Given the description of an element on the screen output the (x, y) to click on. 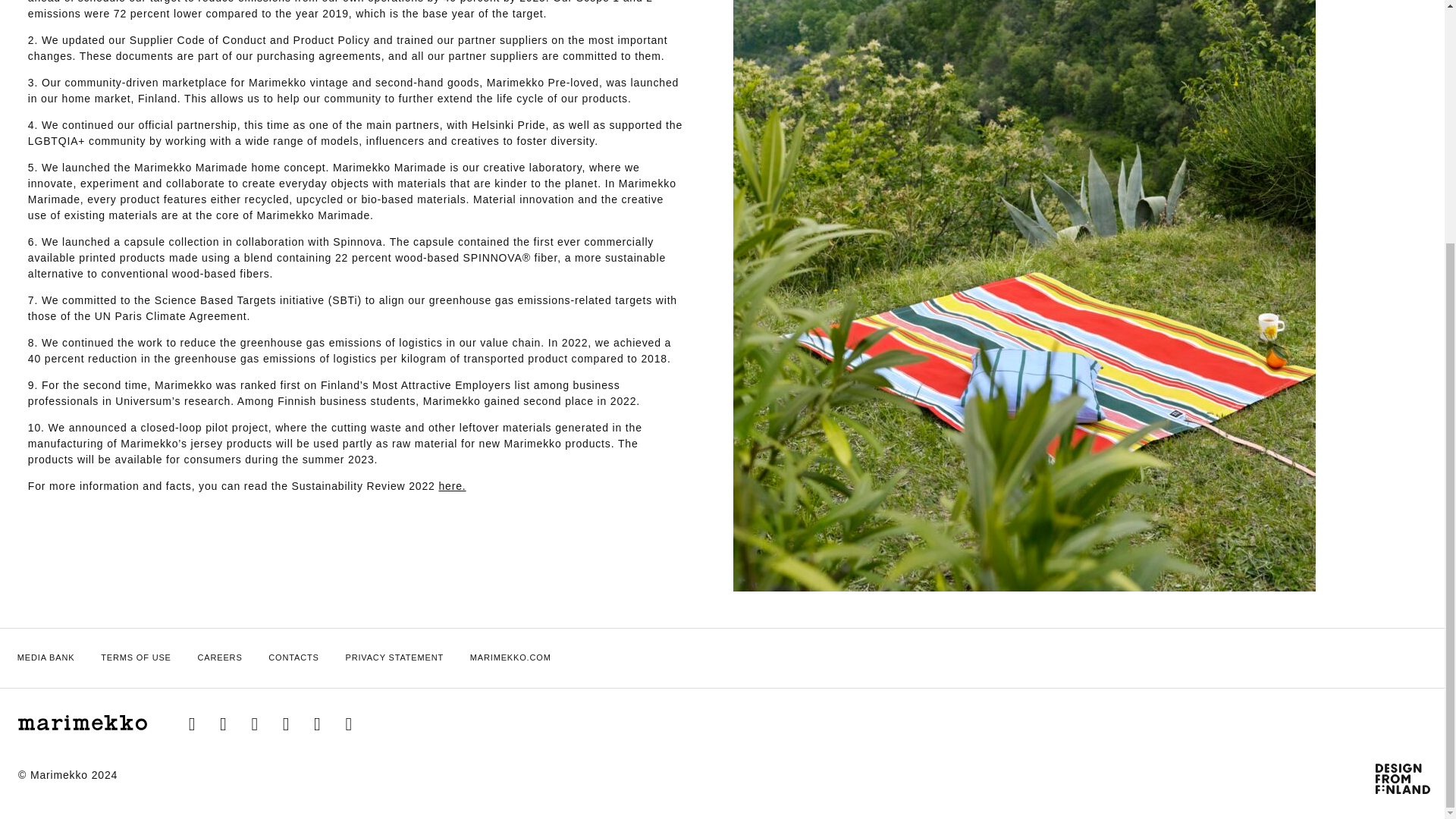
Design From Finland (1403, 781)
